Given the description of an element on the screen output the (x, y) to click on. 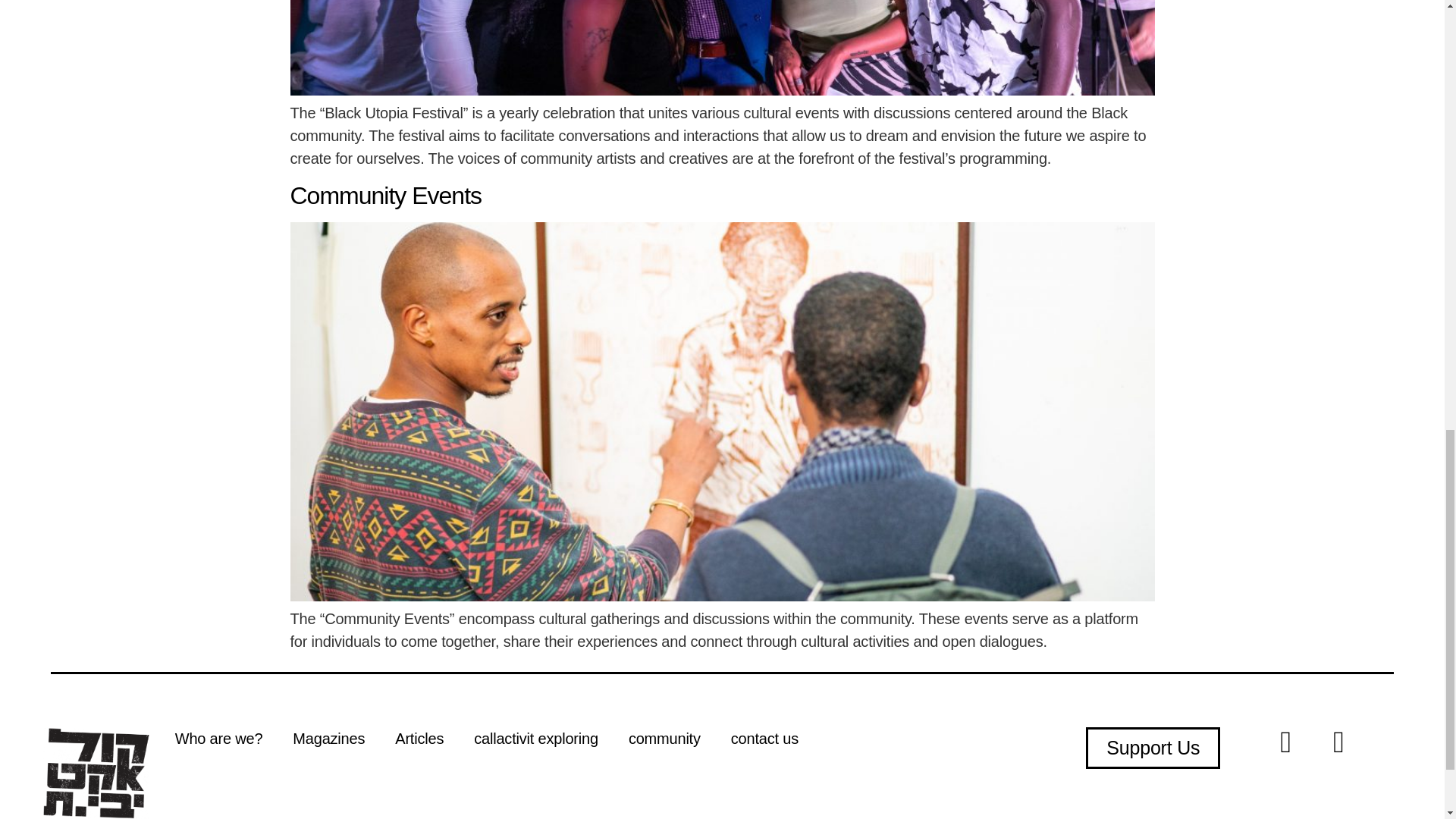
Support Us (1153, 748)
callactivit exploring (535, 738)
community (664, 738)
Who are we? (219, 738)
Magazines (329, 738)
Articles (419, 738)
contact us (764, 738)
Community Events (385, 195)
